Given the description of an element on the screen output the (x, y) to click on. 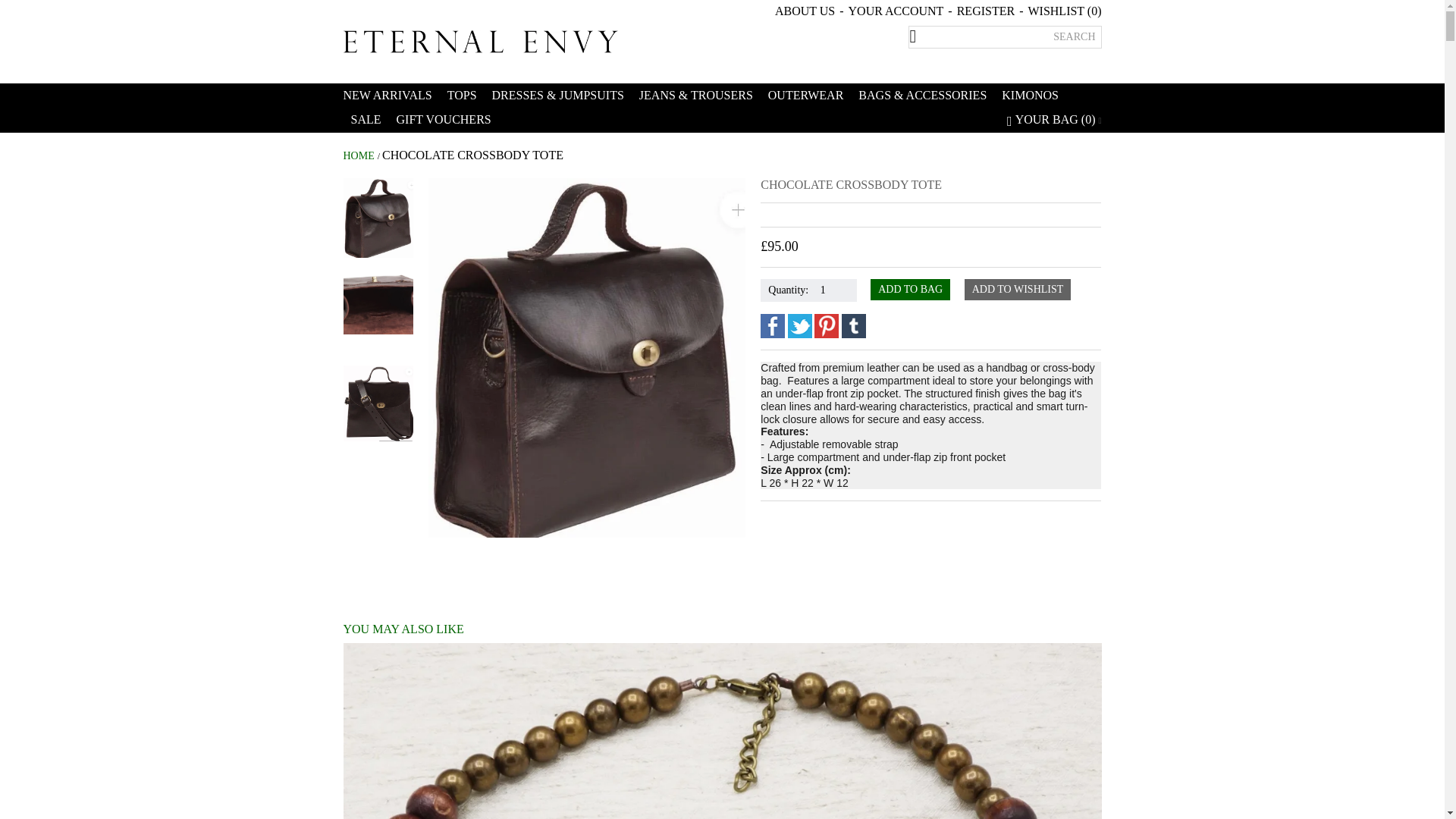
REGISTER (985, 10)
Share on Twitter (799, 325)
GIFT VOUCHERS (442, 119)
Pin It (825, 325)
YOUR ACCOUNT (895, 10)
SEARCH (1073, 36)
OUTERWEAR (805, 95)
ADD TO BAG (910, 289)
Share on Tumblr (853, 325)
NEW ARRIVALS (390, 95)
Share on Facebook (772, 325)
ABOUT US (804, 10)
SALE (365, 119)
TOPS (461, 95)
ADD TO WISHLIST (1017, 289)
